Given the description of an element on the screen output the (x, y) to click on. 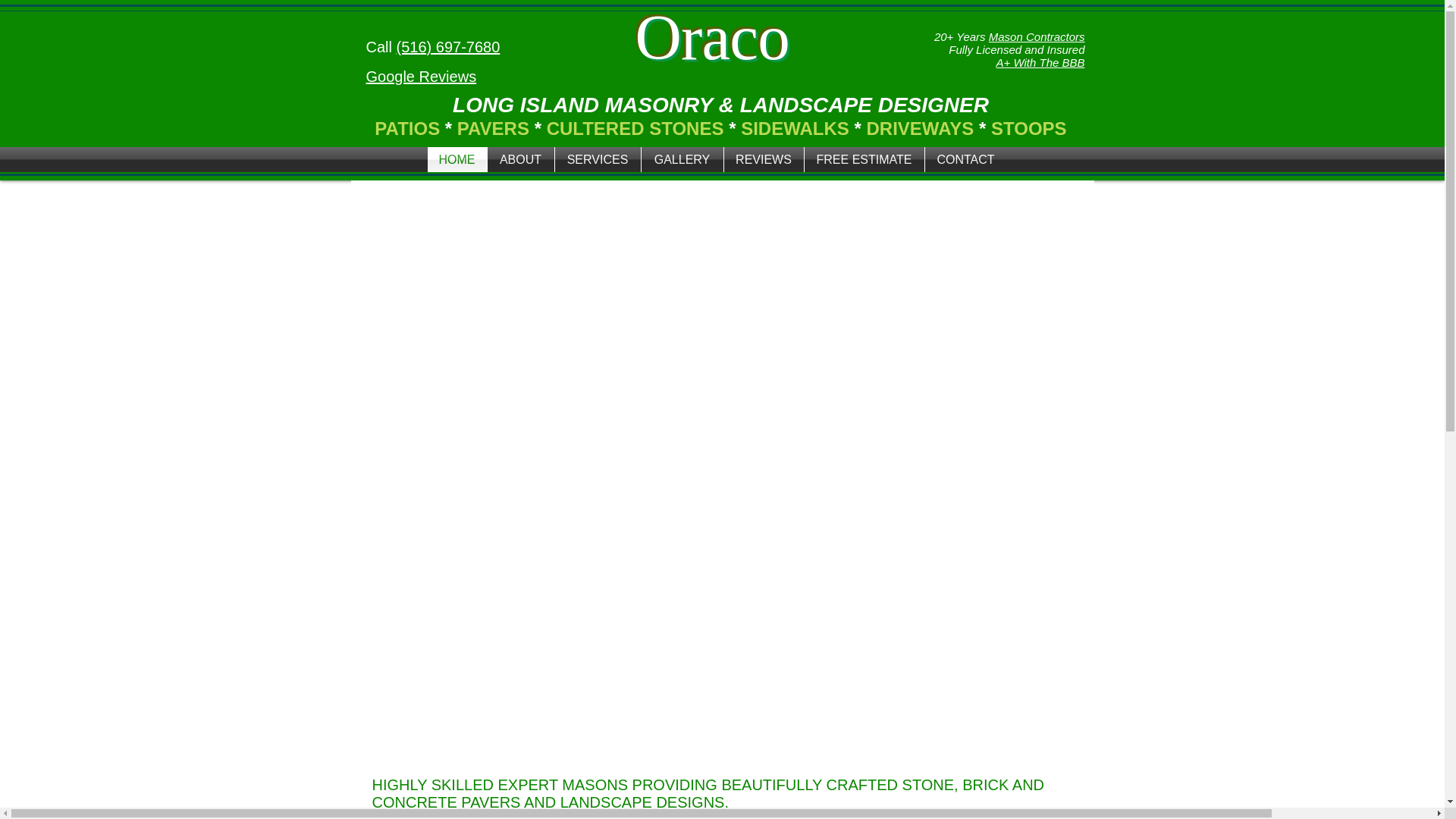
FREE ESTIMATE (863, 159)
ABOUT (519, 159)
HOME (457, 159)
SERVICES (597, 159)
Google Reviews (420, 76)
Oraco   (726, 36)
CONTACT (965, 159)
REVIEWS (763, 159)
GALLERY (682, 159)
Mason Contractors (1036, 36)
